Given the description of an element on the screen output the (x, y) to click on. 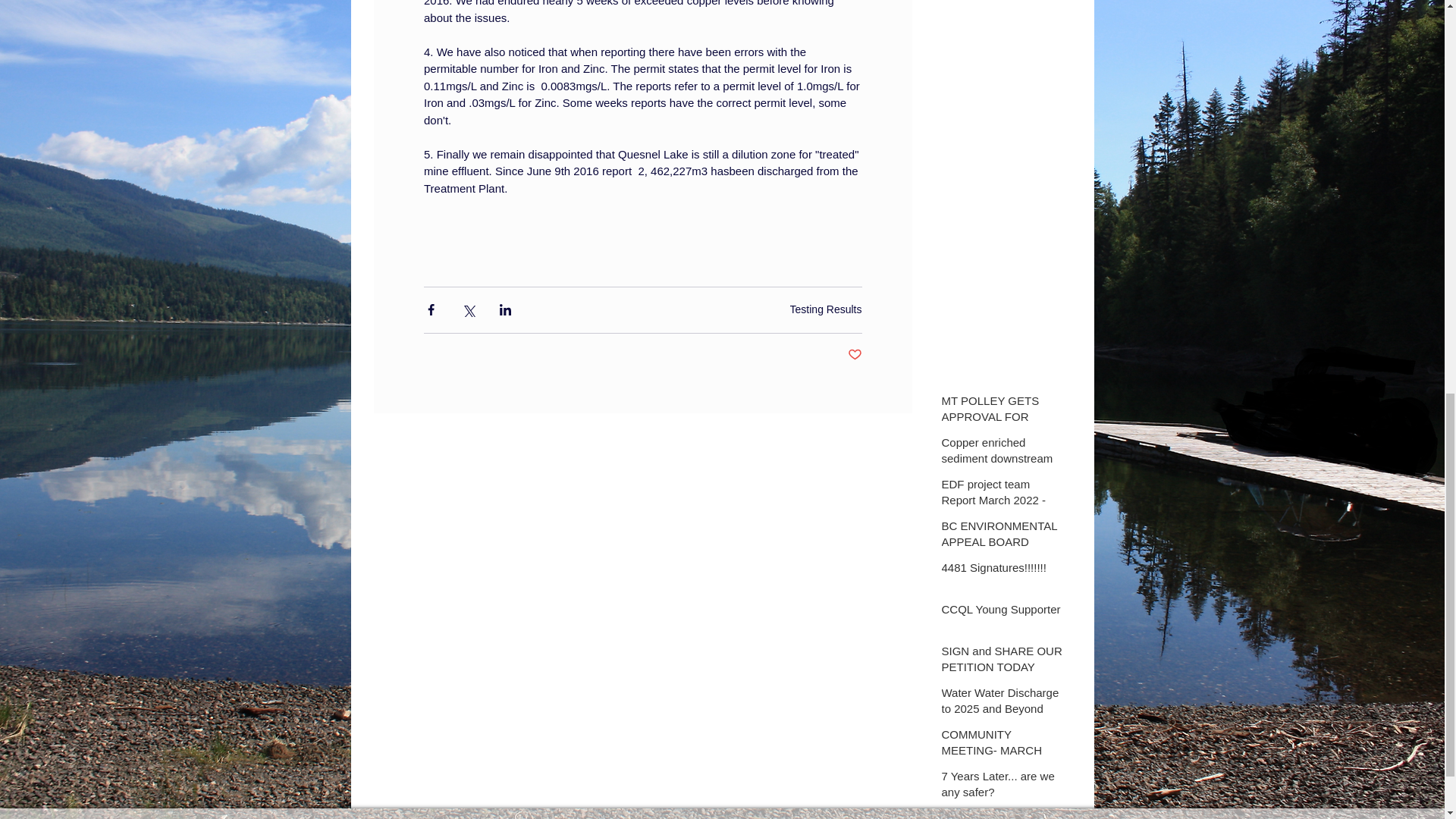
SIGN and SHARE OUR PETITION TODAY (1004, 661)
COMMUNITY MEETING- MARCH 28th 2022 (1004, 753)
Post not marked as liked (854, 355)
4481 Signatures!!!!!!! (1004, 570)
Testing Results (825, 309)
Water Water Discharge to 2025 and Beyond (1004, 703)
7 Years Later... are we any safer? (1004, 786)
CCQL Young Supporter (1004, 612)
